Given the description of an element on the screen output the (x, y) to click on. 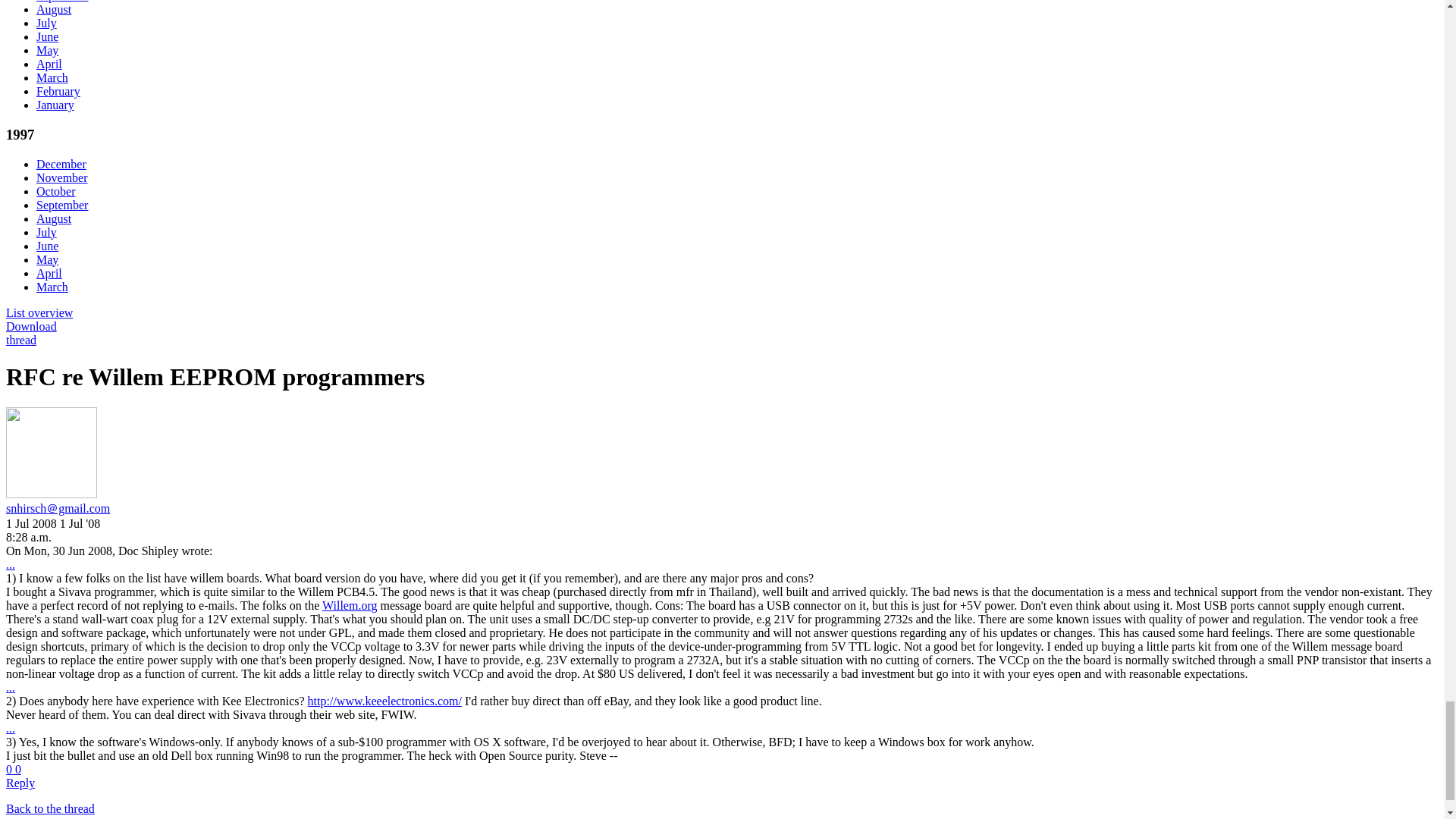
This message in gzipped mbox format (30, 326)
You must be logged-in to vote. (9, 768)
Sign in to reply online (19, 782)
Sender's time: July 1, 2008, 8:28 a.m. (27, 536)
You must be logged-in to vote. (17, 768)
